Given the description of an element on the screen output the (x, y) to click on. 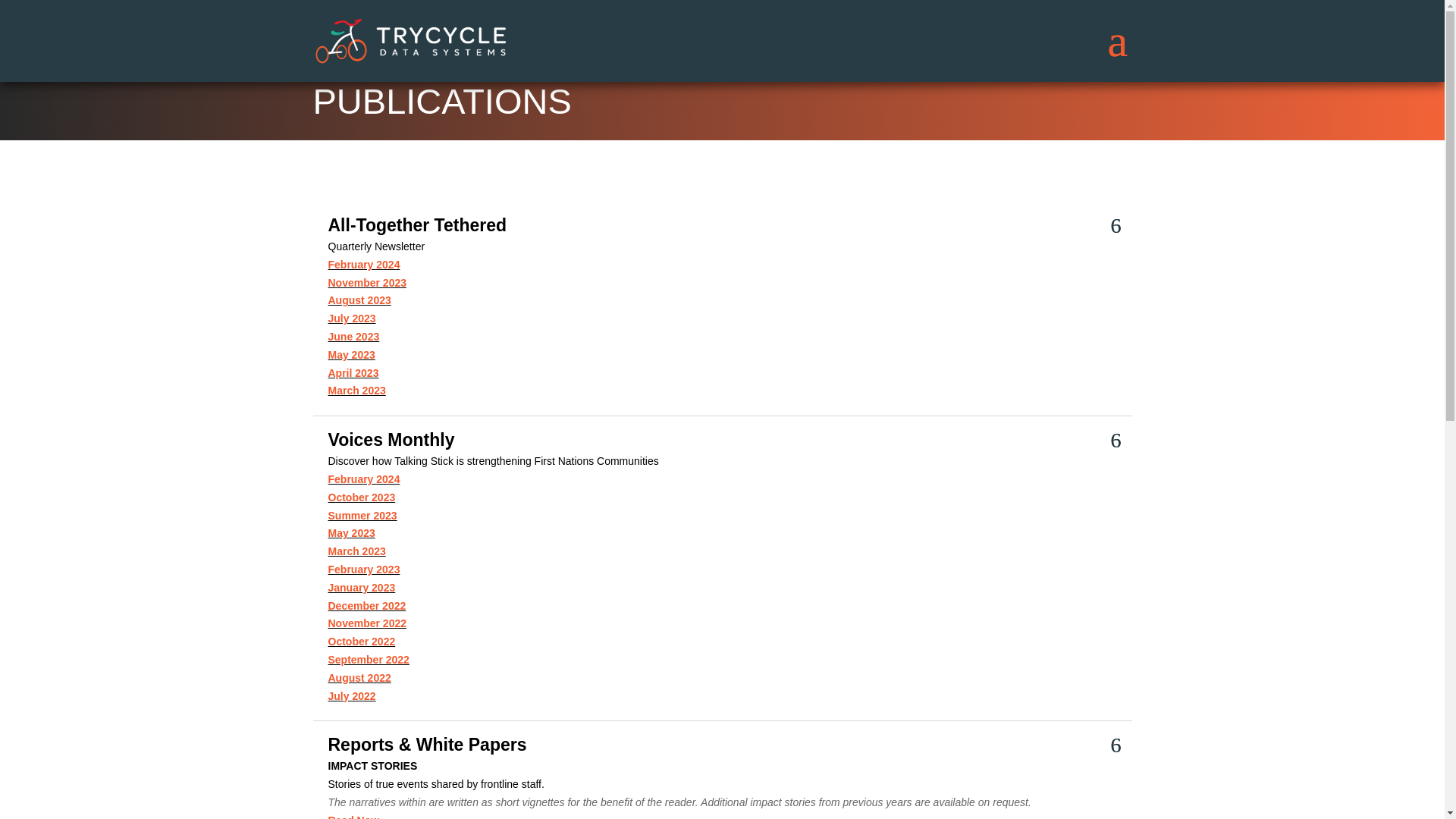
May 2023 (350, 532)
February 2024 (362, 264)
August 2023 (358, 300)
February 2023 (362, 569)
January 2023 (360, 587)
July 2023 (351, 318)
August 2022 (358, 677)
September 2022 (368, 659)
November 2023 (366, 282)
April 2023 (352, 372)
